Given the description of an element on the screen output the (x, y) to click on. 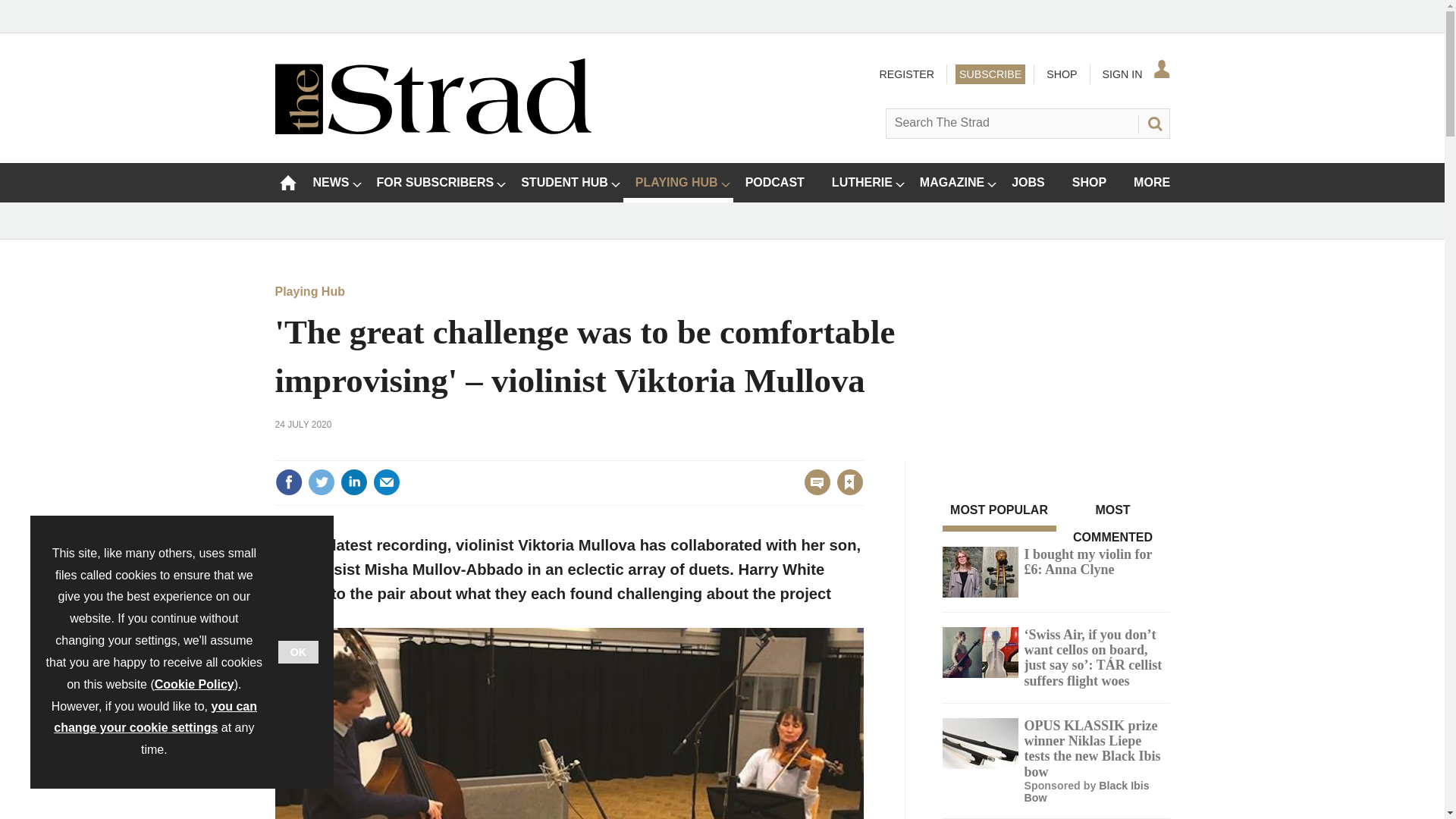
OK (298, 651)
Email this article (386, 482)
REGISTER (906, 74)
Share this on Linked in (352, 482)
Share this on Facebook (288, 482)
Insert Logo text (433, 129)
you can change your cookie settings (155, 717)
No comments (812, 491)
SUBSCRIBE (990, 74)
SIGN IN (1134, 74)
